Given the description of an element on the screen output the (x, y) to click on. 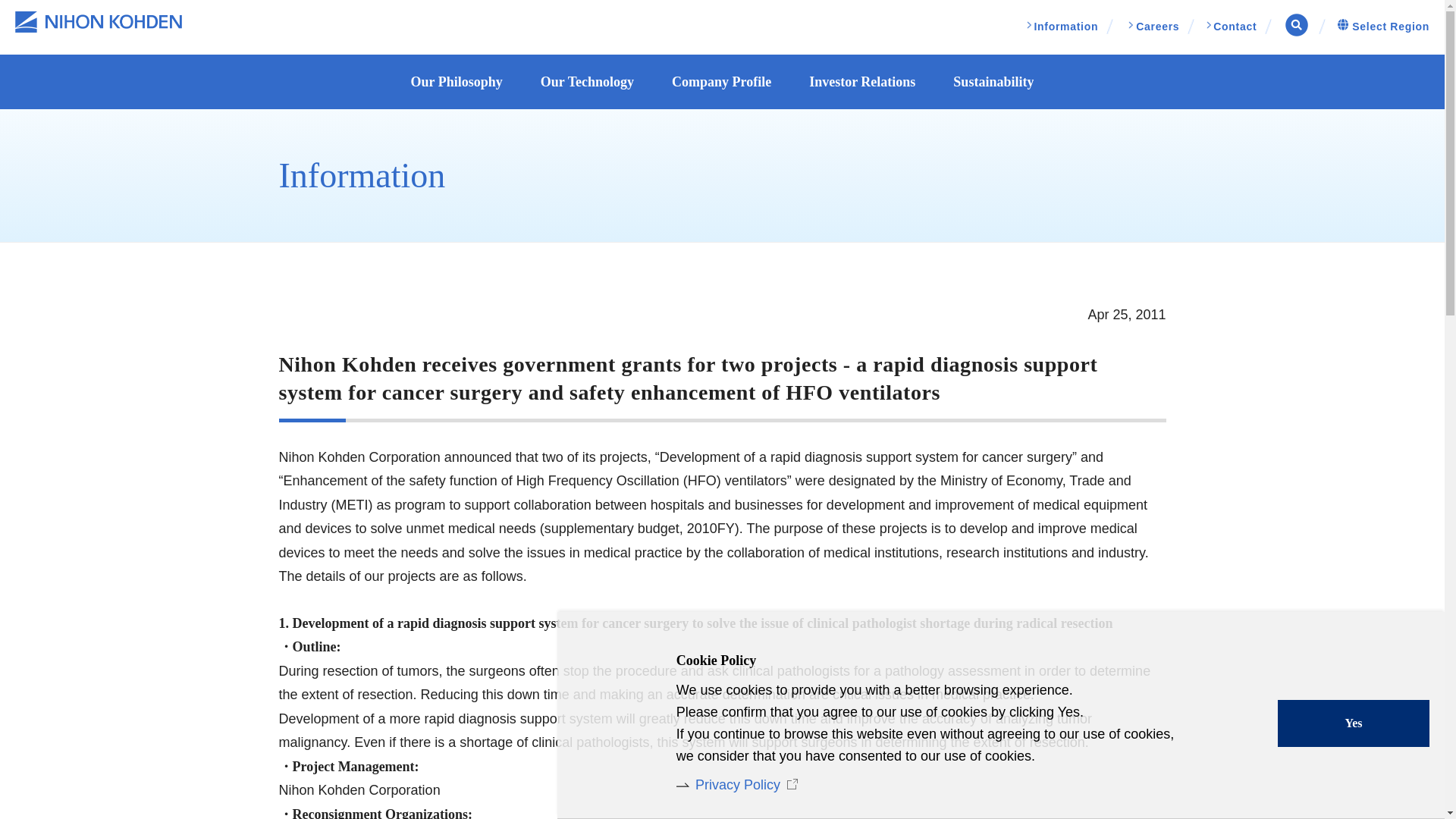
Privacy Policy (741, 784)
search (894, 421)
